Given the description of an element on the screen output the (x, y) to click on. 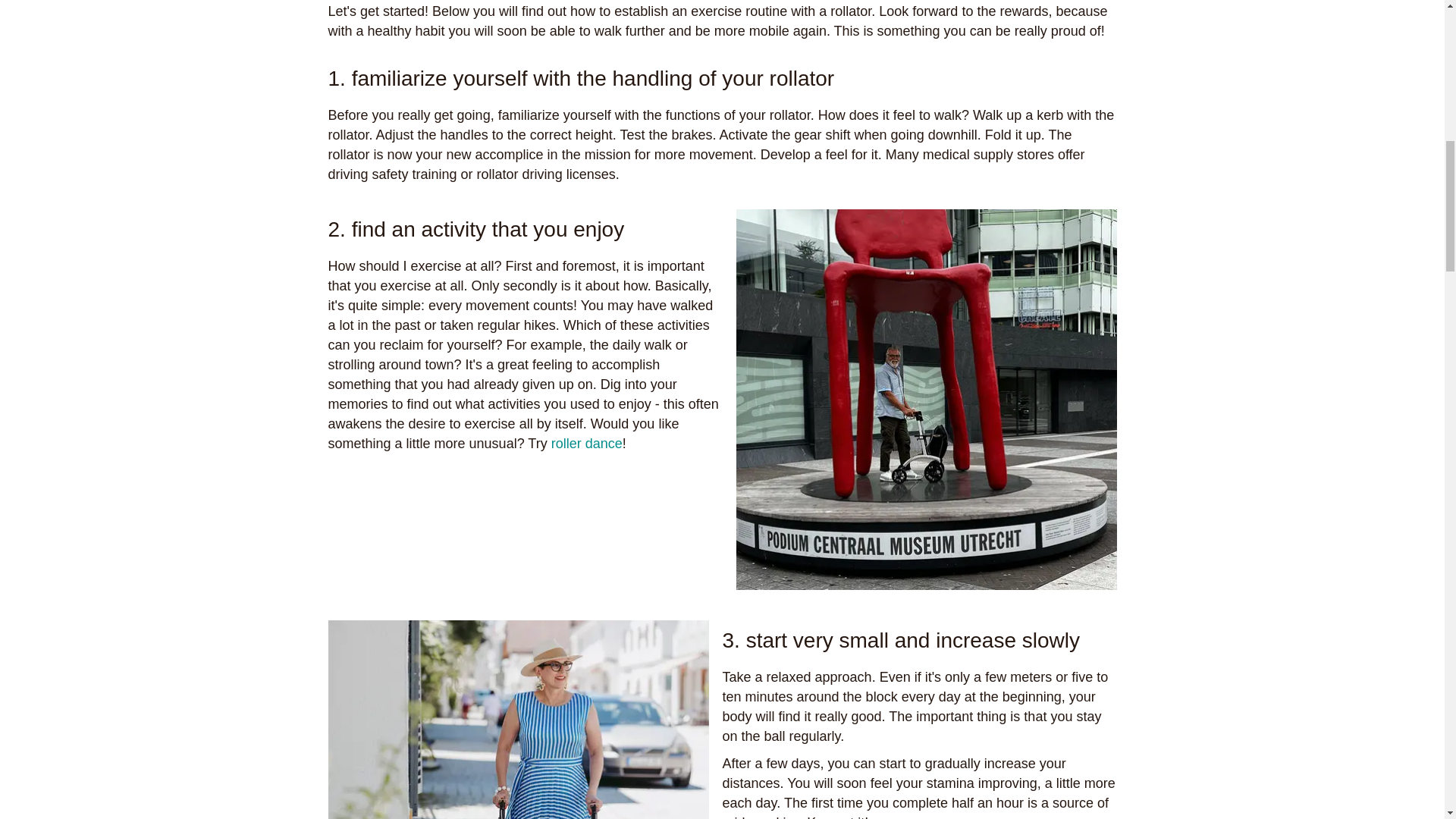
roller dance (587, 443)
